Given the description of an element on the screen output the (x, y) to click on. 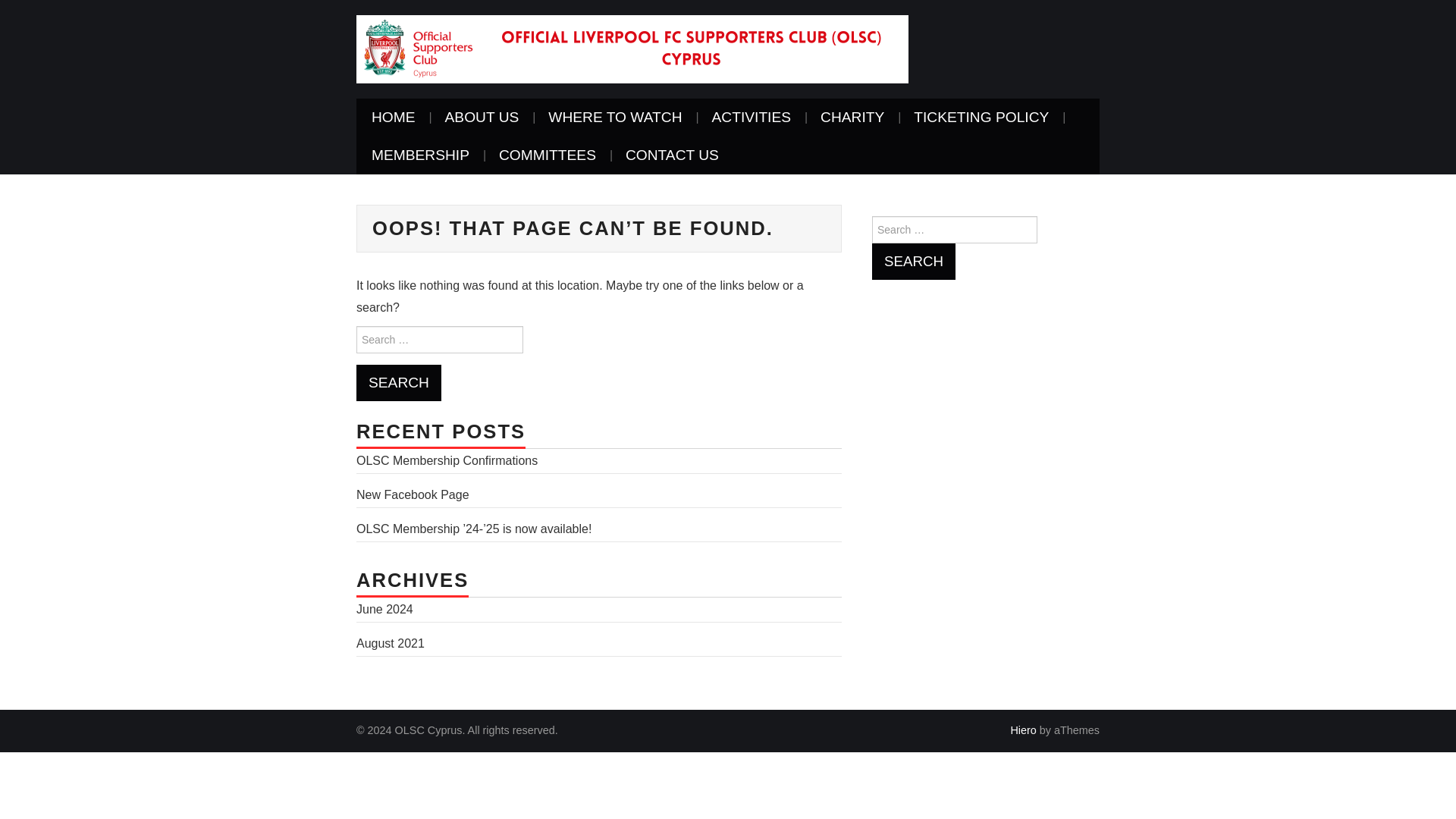
Search (398, 382)
Search (398, 382)
OLSC Cyprus (632, 47)
Search for: (439, 338)
WHERE TO WATCH (614, 117)
Search (913, 261)
CHARITY (852, 117)
OLSC Membership Confirmations (446, 460)
ACTIVITIES (751, 117)
CONTACT US (671, 155)
